Given the description of an element on the screen output the (x, y) to click on. 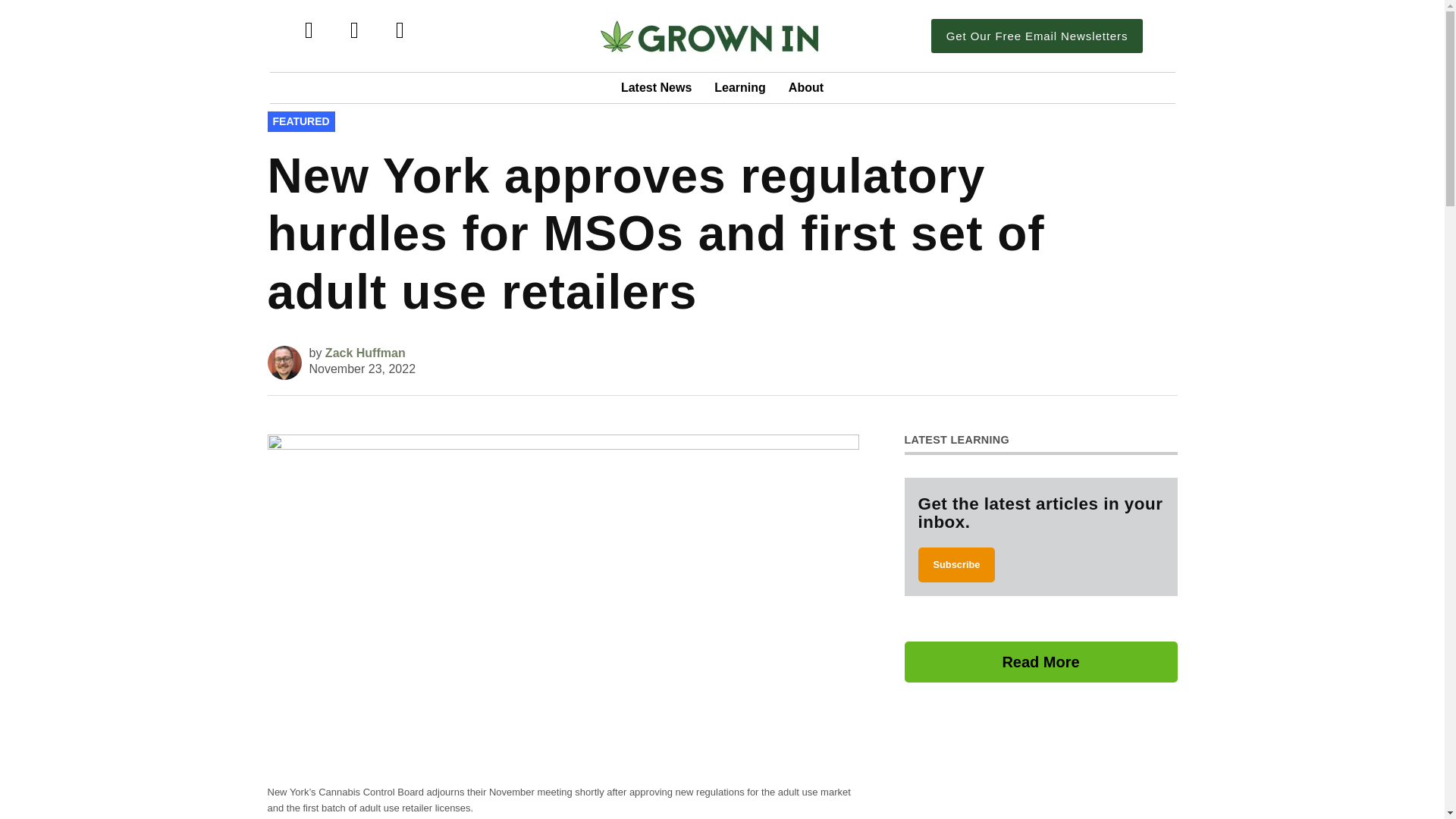
Learning (740, 87)
Read More (1040, 661)
Latest News (656, 87)
FEATURED (300, 121)
Subscribe (955, 564)
About (805, 87)
Get Our Free Email Newsletters (1036, 35)
LATEST LEARNING (956, 439)
Zack Huffman (365, 352)
